Given the description of an element on the screen output the (x, y) to click on. 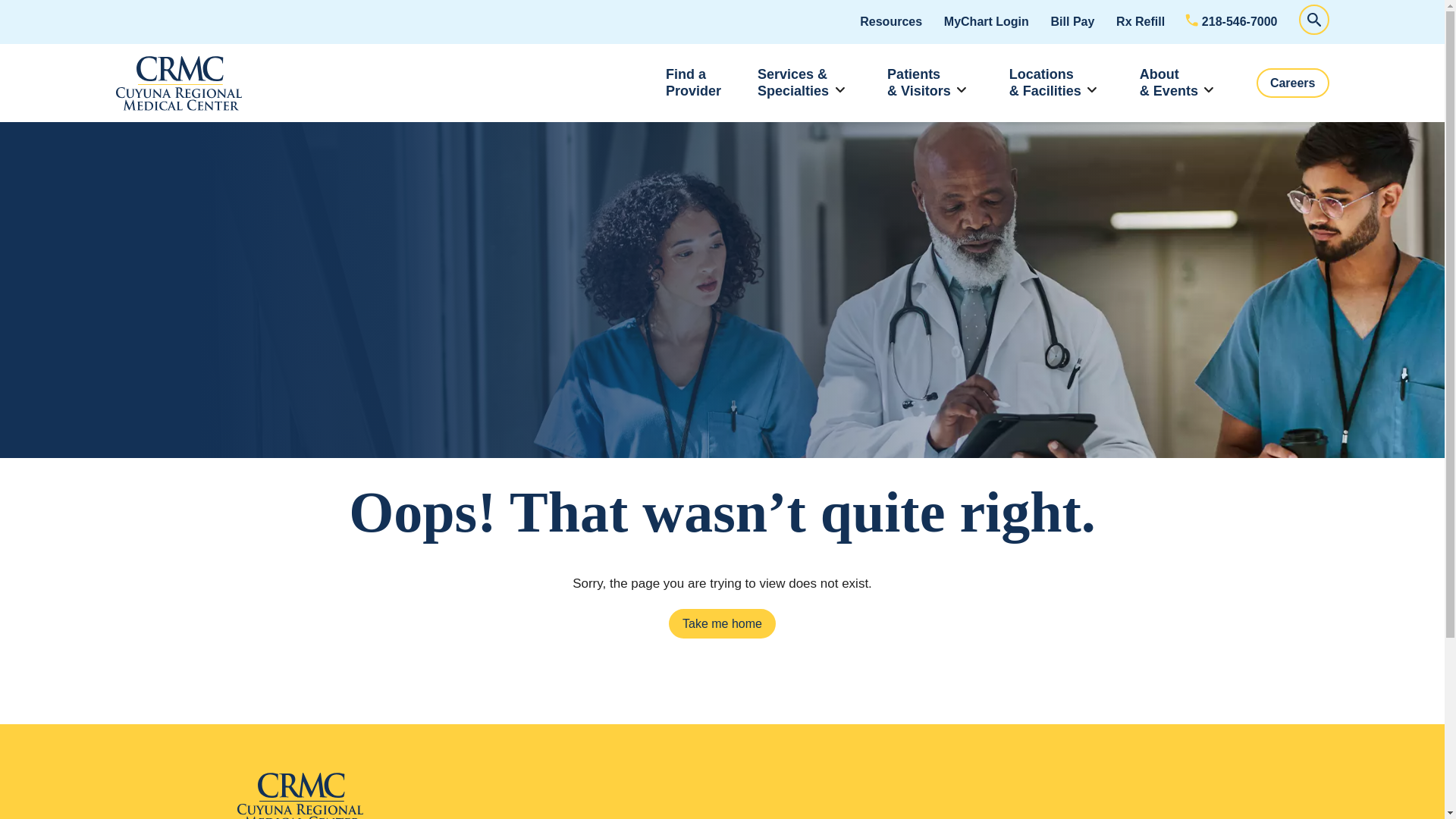
SafeBuilt (389, 796)
MyChart Login (986, 21)
Bill Pay (1072, 21)
Interwest (178, 82)
Resources (692, 82)
218-546-7000 (890, 21)
Search Toggle (1232, 21)
Rx Refill (1312, 19)
